Given the description of an element on the screen output the (x, y) to click on. 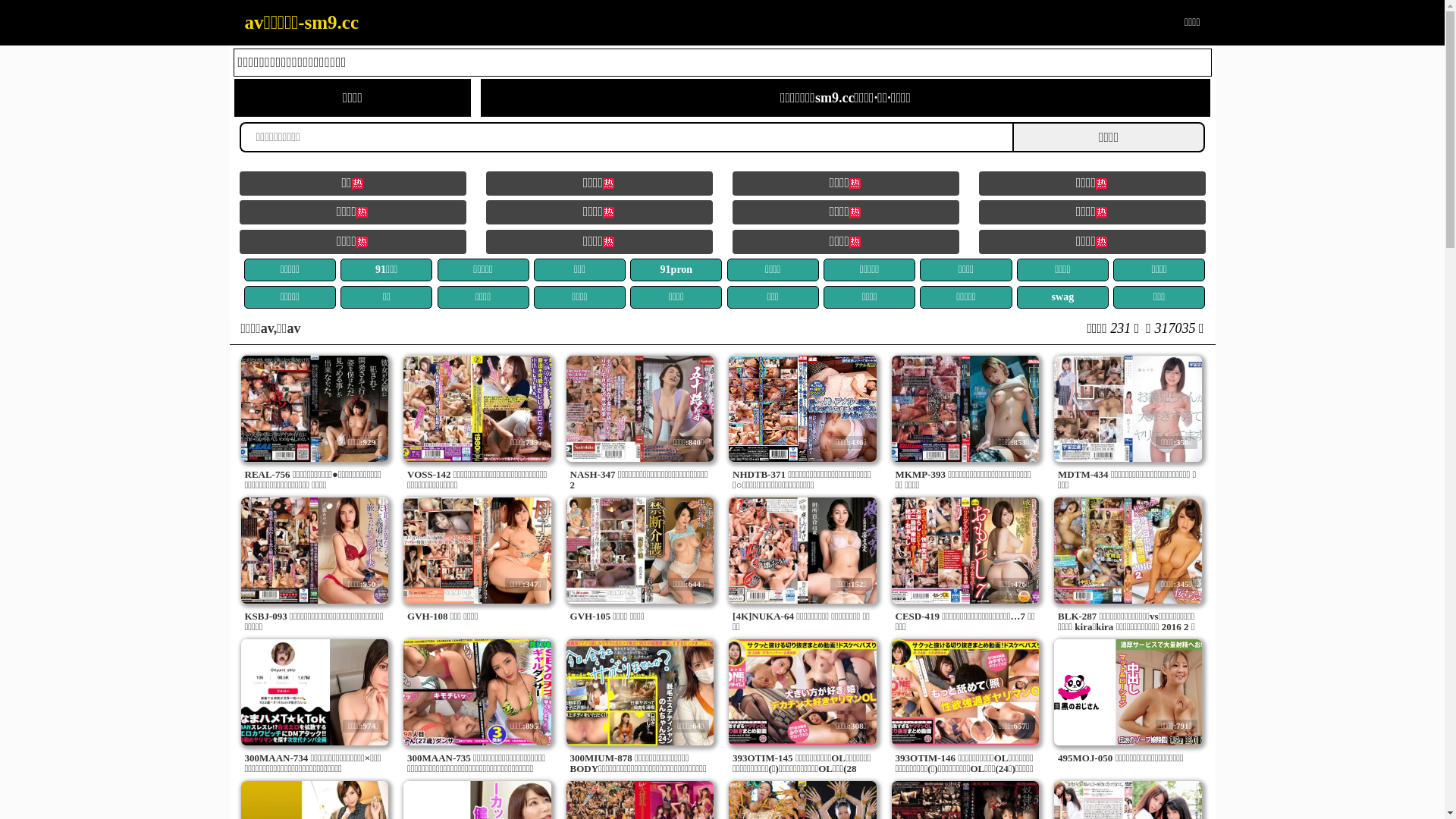
91pron Element type: text (675, 269)
swag Element type: text (1062, 296)
